Given the description of an element on the screen output the (x, y) to click on. 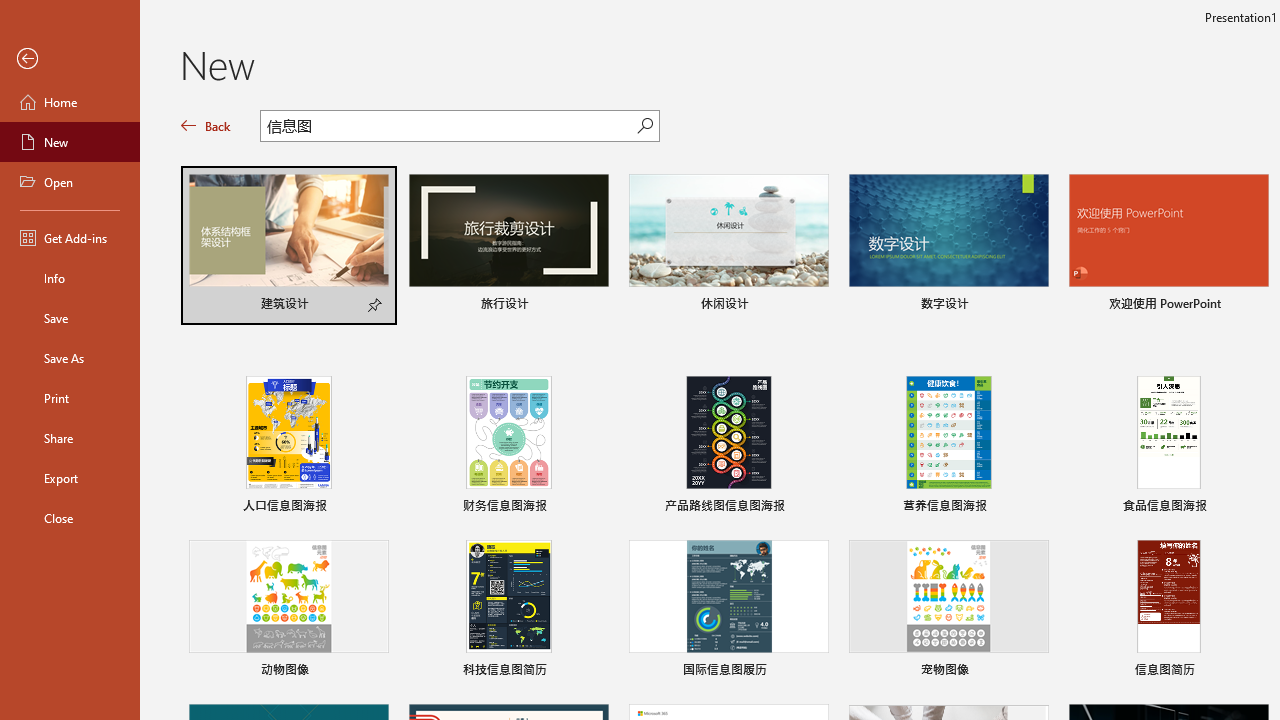
Pin to list (1255, 671)
Info (69, 277)
Search for online templates and themes (449, 128)
Back (205, 125)
Print (69, 398)
